Given the description of an element on the screen output the (x, y) to click on. 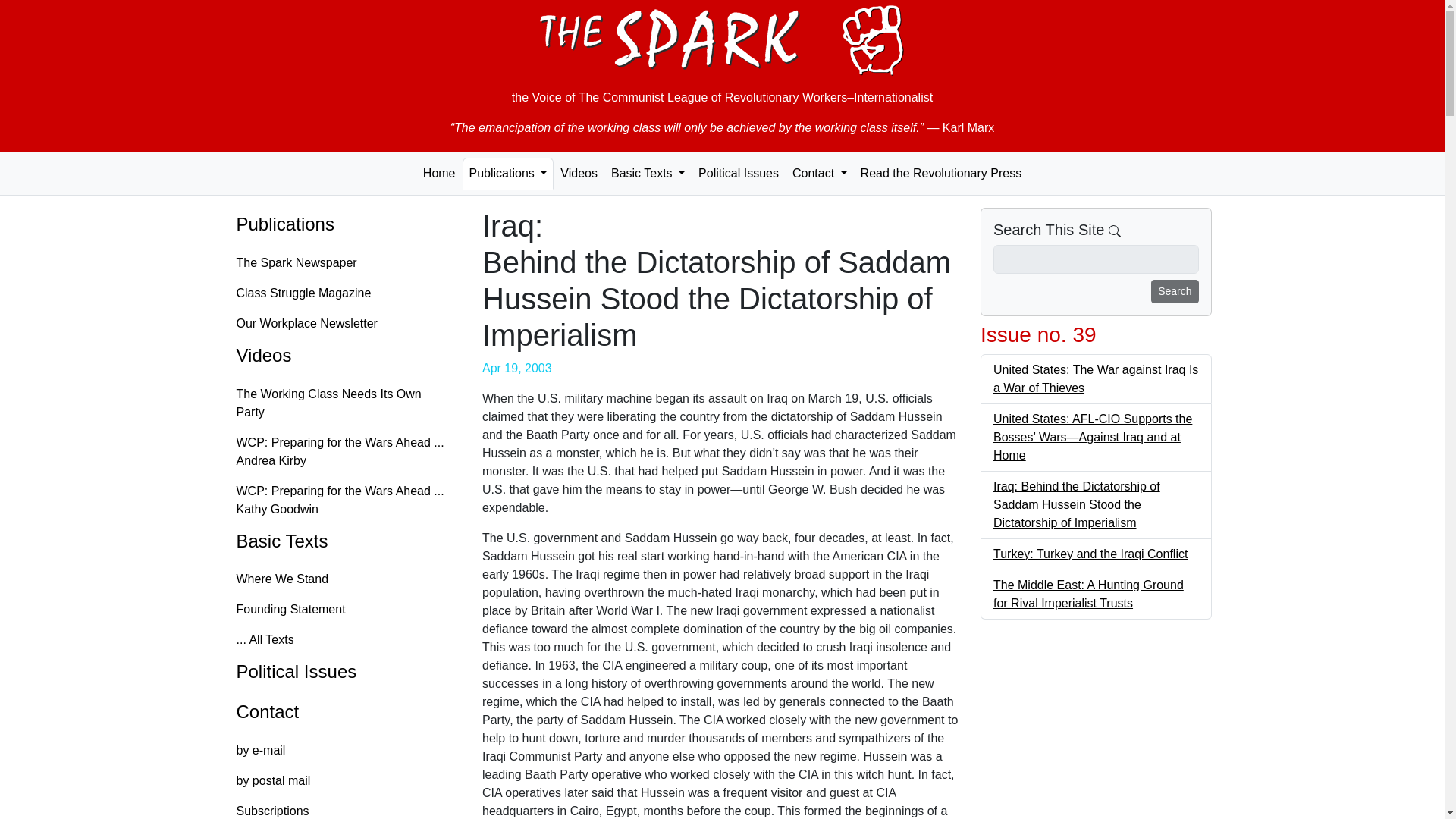
Publications (508, 173)
Founding Statement (344, 609)
WCP: Preparing for the Wars Ahead ... Andrea Kirby (344, 451)
Subscription Information (344, 807)
Search (1174, 291)
... All Texts (344, 639)
Our Workplace Newsletter (344, 323)
Class Struggle Magazine (344, 293)
Basic Texts (647, 173)
Political Issues (738, 173)
Videos (578, 173)
Basic Texts (344, 541)
Postal mail addresses (344, 780)
Turkey: Turkey and the Iraqi Conflict (1090, 553)
Publications (344, 224)
